Given the description of an element on the screen output the (x, y) to click on. 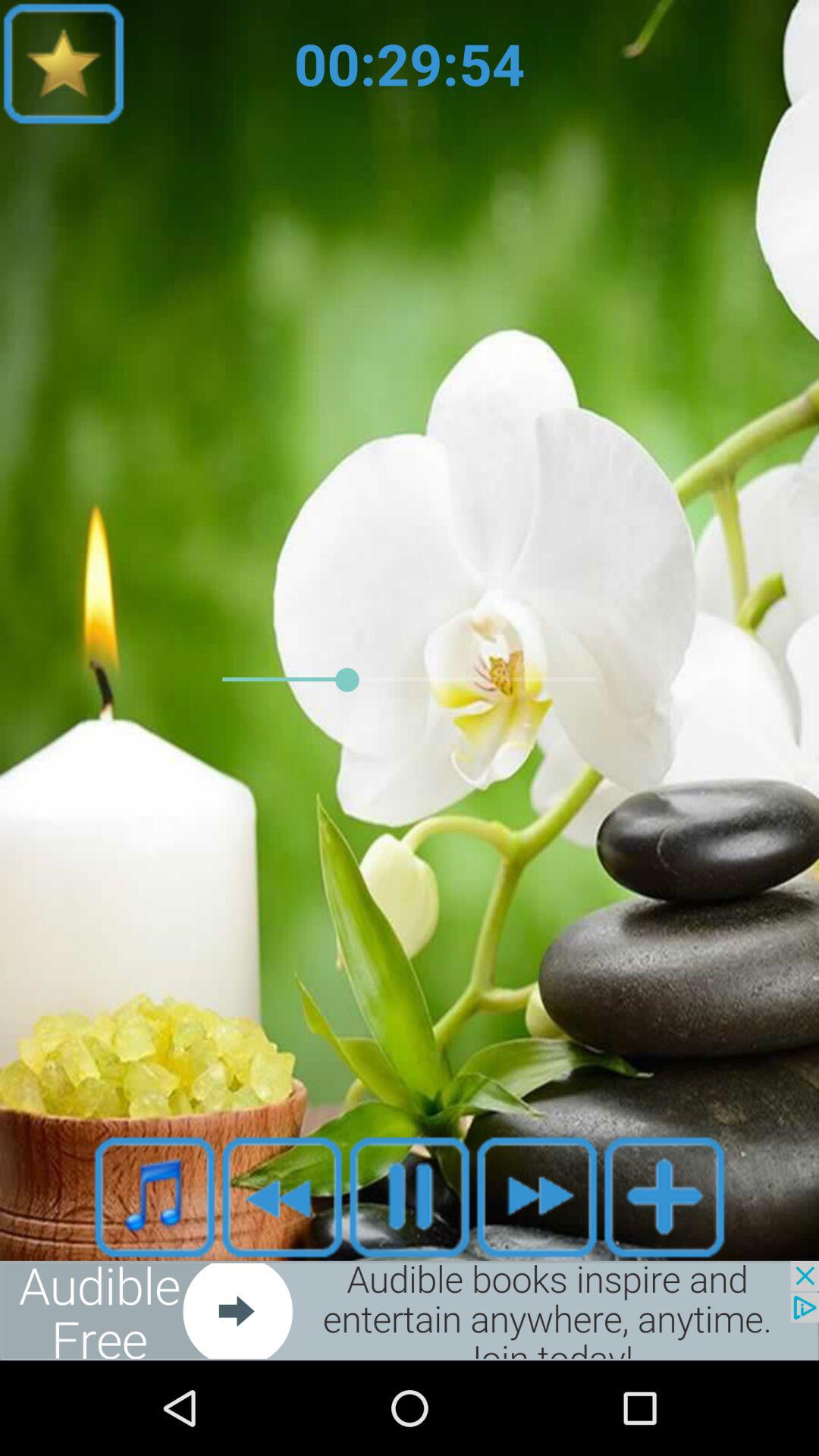
rewind (281, 1196)
